Given the description of an element on the screen output the (x, y) to click on. 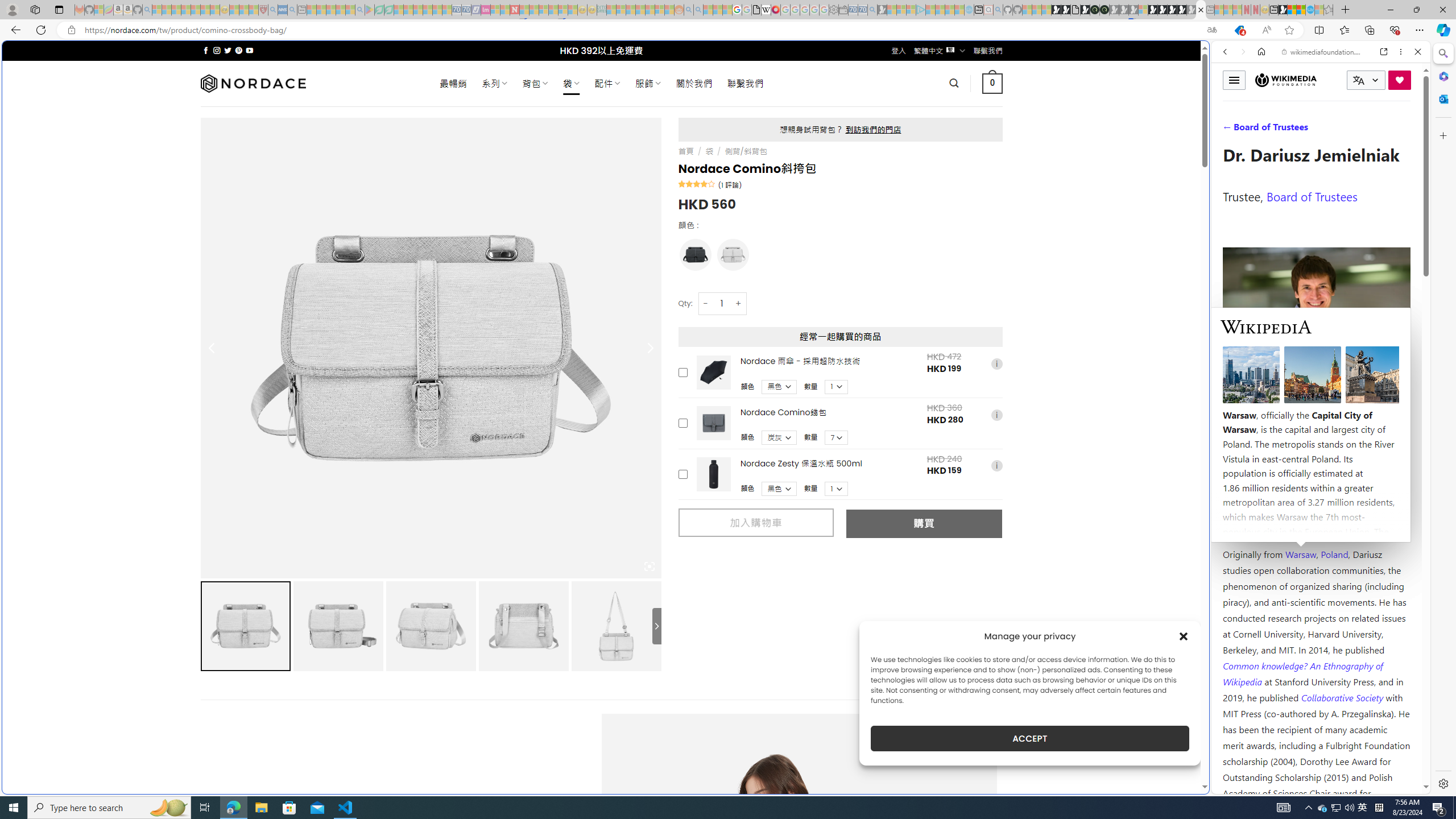
Target page - Wikipedia (766, 9)
Harvard University (1259, 526)
  0   (992, 83)
Wikimedia Foundation (1285, 79)
